Given the description of an element on the screen output the (x, y) to click on. 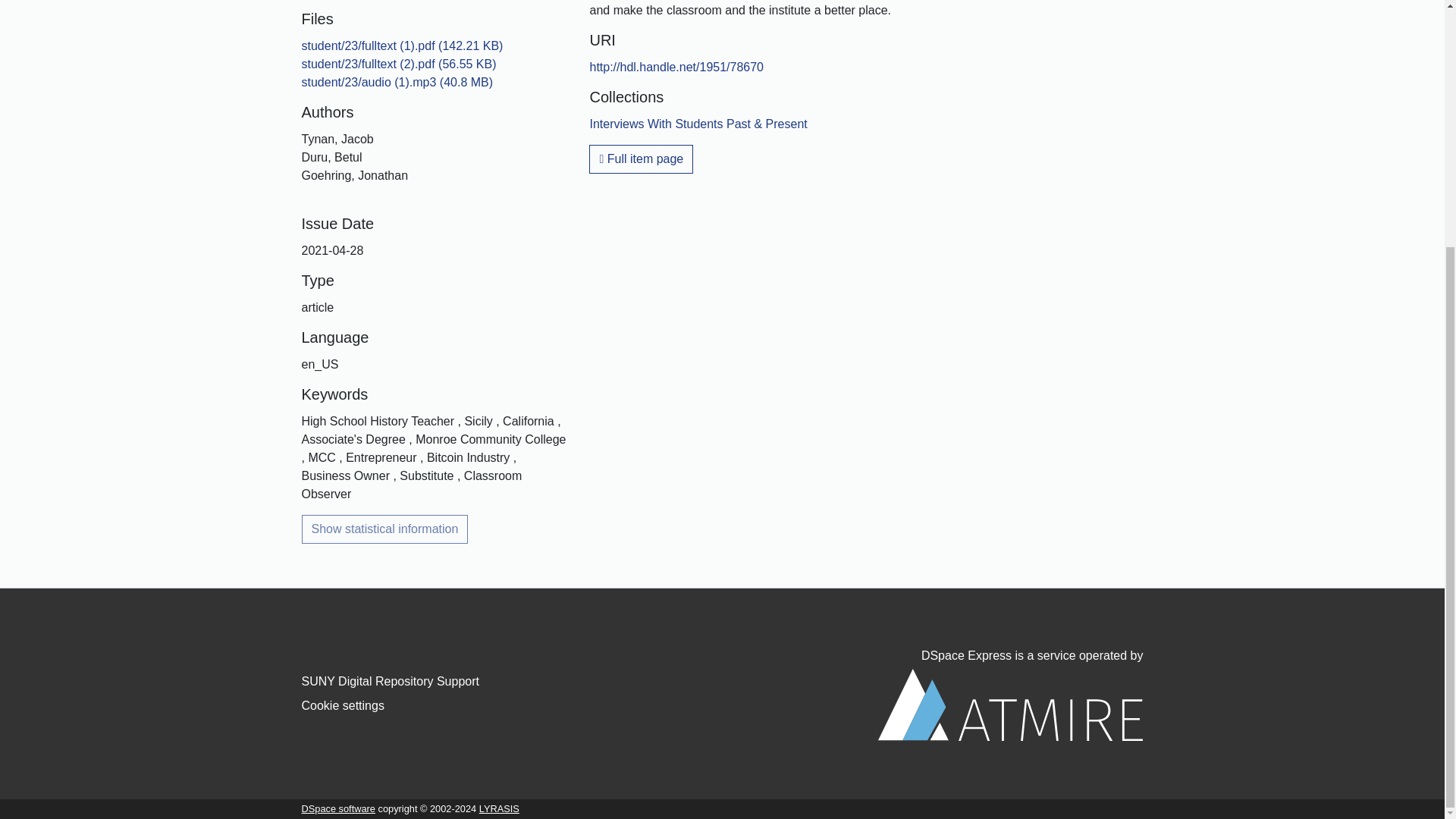
DSpace Express is a service operated by (1009, 695)
Show statistical information (384, 529)
DSpace software (338, 808)
LYRASIS (499, 808)
SUNY Digital Repository Support (390, 680)
Full item page (641, 158)
Cookie settings (342, 705)
